Given the description of an element on the screen output the (x, y) to click on. 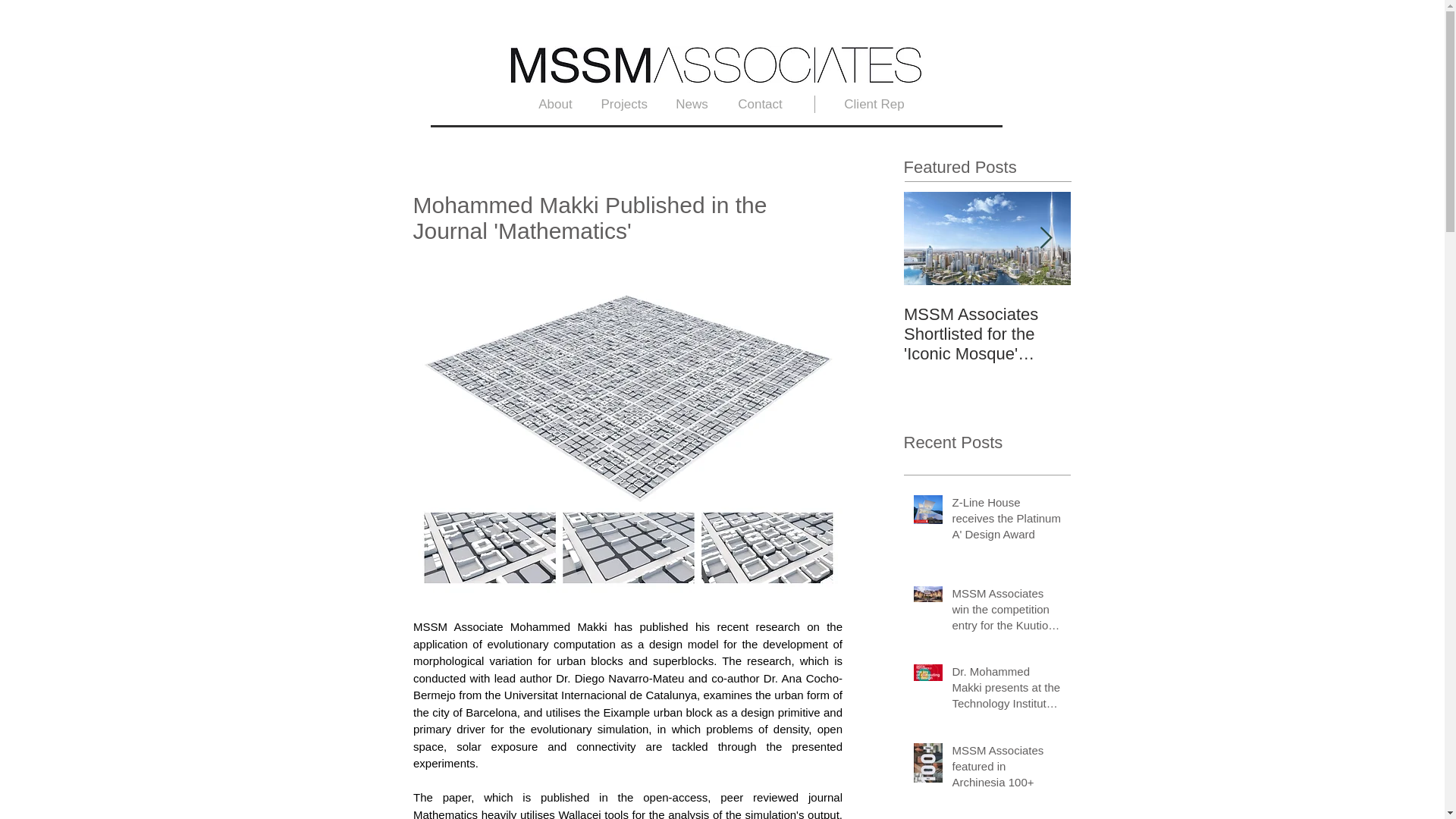
About (555, 104)
Contact (760, 104)
Client Rep (874, 104)
Projects (623, 104)
Z-Line House receives the Platinum A' Design Award (1006, 520)
News (692, 104)
